Given the description of an element on the screen output the (x, y) to click on. 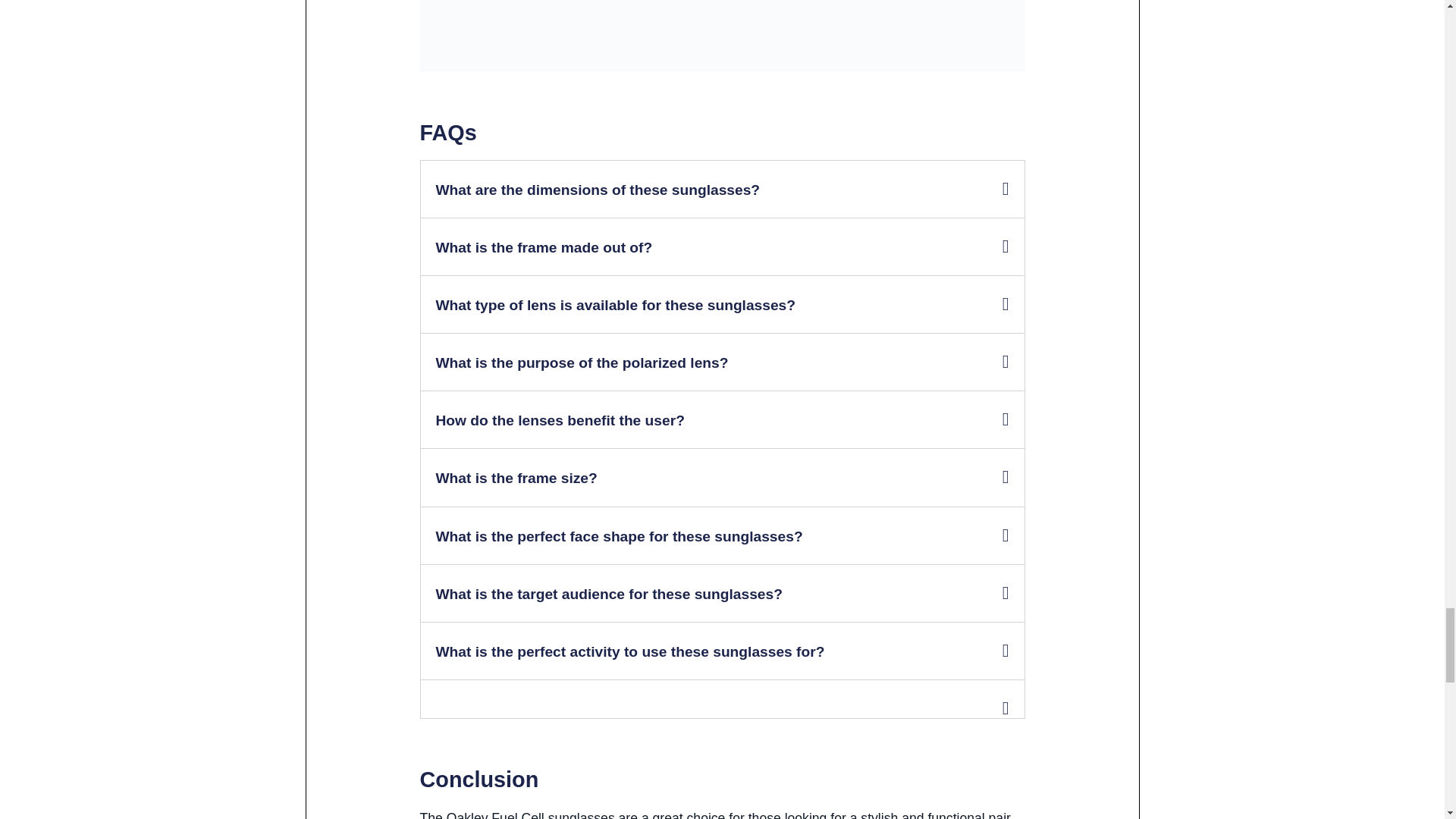
What is the perfect activity to use these sunglasses for? (629, 651)
What type of lens is available for these sunglasses? (614, 304)
What is the purpose of the polarized lens? (581, 362)
What is the perfect face shape for these sunglasses? (618, 536)
What is the frame made out of? (543, 247)
What are the dimensions of these sunglasses? (597, 189)
What is the frame size? (515, 478)
How do the lenses benefit the user? (559, 420)
What is the target audience for these sunglasses? (608, 593)
